Given the description of an element on the screen output the (x, y) to click on. 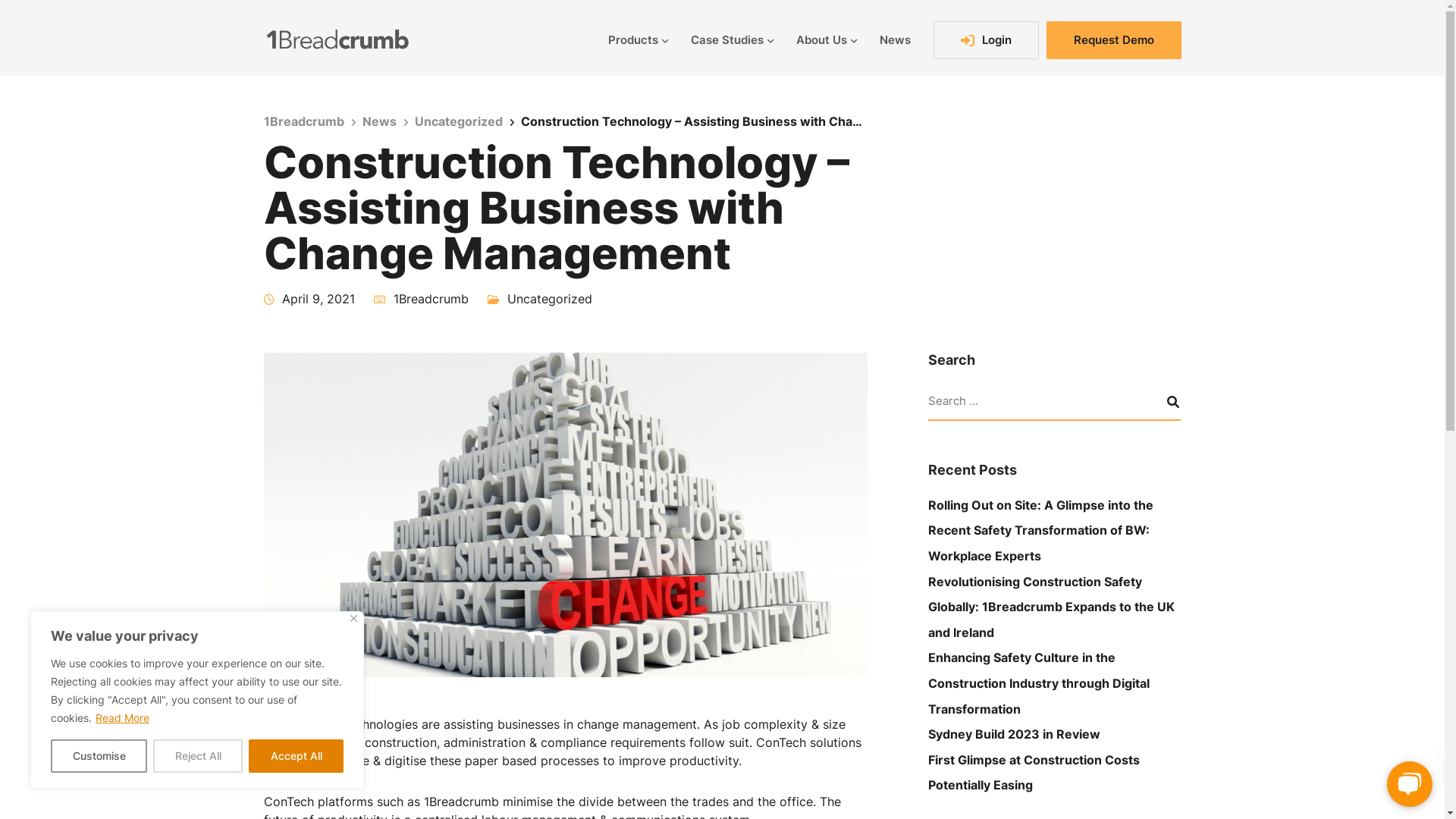
News Element type: text (894, 39)
Reject All Element type: text (197, 755)
1Breadcrumb Element type: text (303, 120)
Request Demo Element type: text (1113, 40)
Accept All Element type: text (295, 755)
First Glimpse at Construction Costs Potentially Easing Element type: text (1033, 772)
Case Studies Element type: text (731, 39)
1Breadcrumb Element type: text (429, 298)
News Element type: text (379, 120)
Customise Element type: text (98, 755)
Products Element type: text (637, 39)
Uncategorized Element type: text (458, 120)
Sydney Build 2023 in Review Element type: text (1014, 733)
About Us Element type: text (825, 39)
Uncategorized Element type: text (548, 298)
Read More Element type: text (122, 717)
Login Element type: text (985, 40)
